Given the description of an element on the screen output the (x, y) to click on. 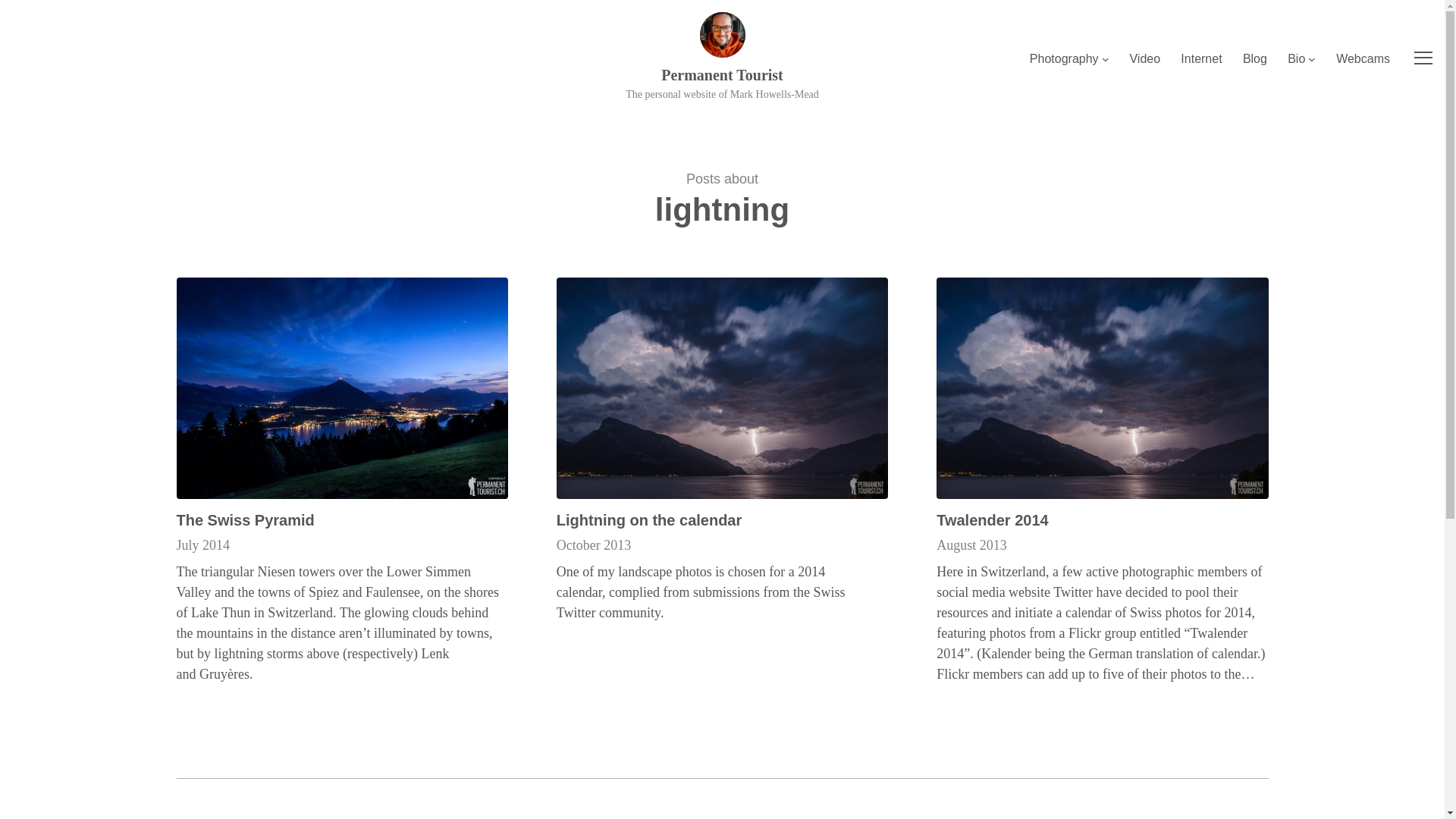
Article: Lightning on the calendar (722, 387)
Video (1144, 58)
Permanent Tourist (722, 74)
Photography (1064, 58)
Article: Twalender 2014 (1102, 387)
Article: The Swiss Pyramid (341, 387)
Webcams (1363, 58)
Twalender 2014 (992, 520)
Internet (1200, 58)
Blog (1254, 58)
